Given the description of an element on the screen output the (x, y) to click on. 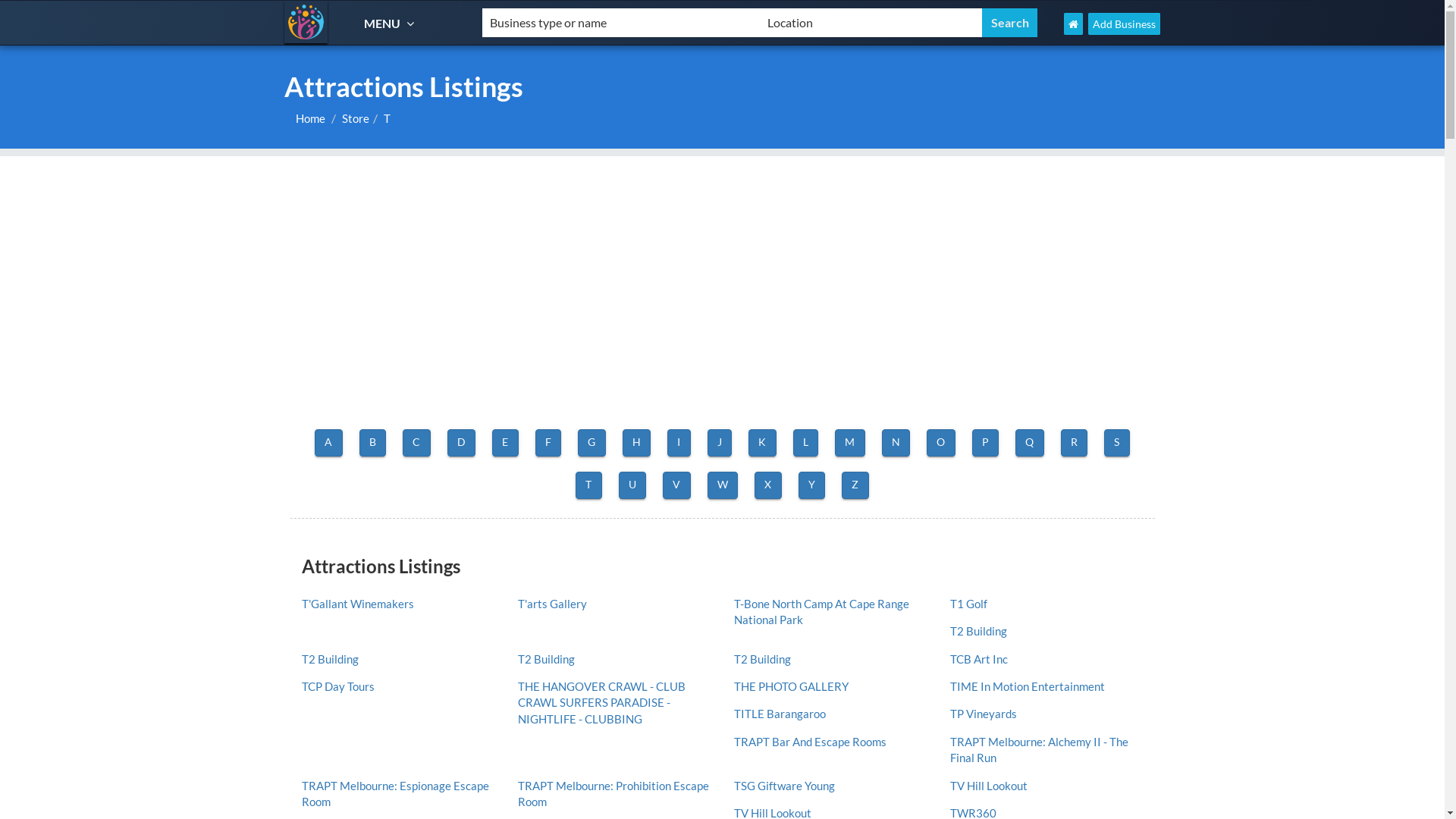
Q Element type: text (1029, 442)
TP Vineyards Element type: text (1046, 713)
I Element type: text (678, 442)
T Element type: text (588, 484)
Advertisement Element type: hover (721, 262)
P Element type: text (985, 442)
G Element type: text (591, 442)
T Element type: text (386, 118)
H Element type: text (636, 442)
R Element type: text (1074, 442)
TRAPT Melbourne: Espionage Escape Room Element type: text (397, 794)
Attractions Element type: hover (305, 21)
Y Element type: text (811, 484)
TSG Giftware Young Element type: text (829, 785)
Attractions Home Page Element type: hover (1072, 23)
T'Gallant Winemakers Element type: text (397, 603)
F Element type: text (548, 442)
S Element type: text (1116, 442)
T2 Building Element type: text (1046, 631)
Z Element type: text (855, 484)
A Element type: text (328, 442)
Home Element type: text (310, 118)
T2 Building Element type: text (614, 659)
Add Business Element type: text (1124, 23)
O Element type: text (940, 442)
TITLE Barangaroo Element type: text (829, 713)
TRAPT Melbourne: Alchemy II - The Final Run Element type: text (1046, 750)
W Element type: text (722, 484)
T'arts Gallery Element type: text (614, 603)
Store Element type: text (355, 118)
B Element type: text (372, 442)
T2 Building Element type: text (397, 659)
Search Element type: text (1009, 22)
J Element type: text (719, 442)
TRAPT Melbourne: Prohibition Escape Room Element type: text (614, 794)
TIME In Motion Entertainment Element type: text (1046, 686)
T-Bone North Camp At Cape Range National Park Element type: text (829, 612)
L Element type: text (806, 442)
U Element type: text (632, 484)
TV Hill Lookout Element type: text (1046, 785)
T2 Building Element type: text (829, 659)
TRAPT Bar And Escape Rooms Element type: text (829, 741)
K Element type: text (762, 442)
E Element type: text (505, 442)
THE PHOTO GALLERY Element type: text (829, 686)
N Element type: text (895, 442)
TCP Day Tours Element type: text (397, 686)
T1 Golf Element type: text (1046, 603)
X Element type: text (767, 484)
V Element type: text (676, 484)
TCB Art Inc Element type: text (1046, 659)
C Element type: text (416, 442)
M Element type: text (849, 442)
D Element type: text (461, 442)
MENU Element type: text (390, 22)
